Given the description of an element on the screen output the (x, y) to click on. 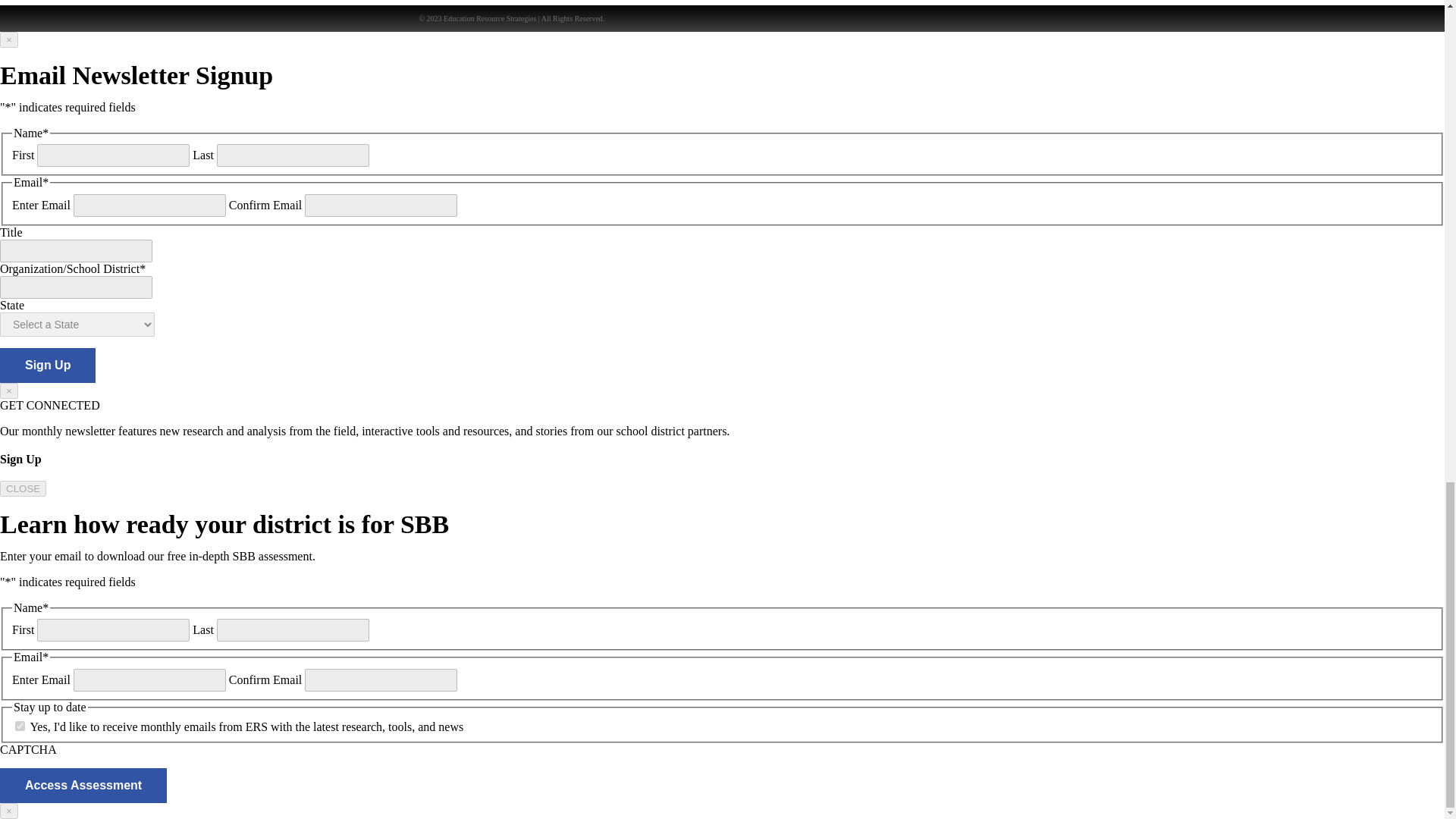
Sign Up (48, 365)
Access Assessment (83, 785)
